Given the description of an element on the screen output the (x, y) to click on. 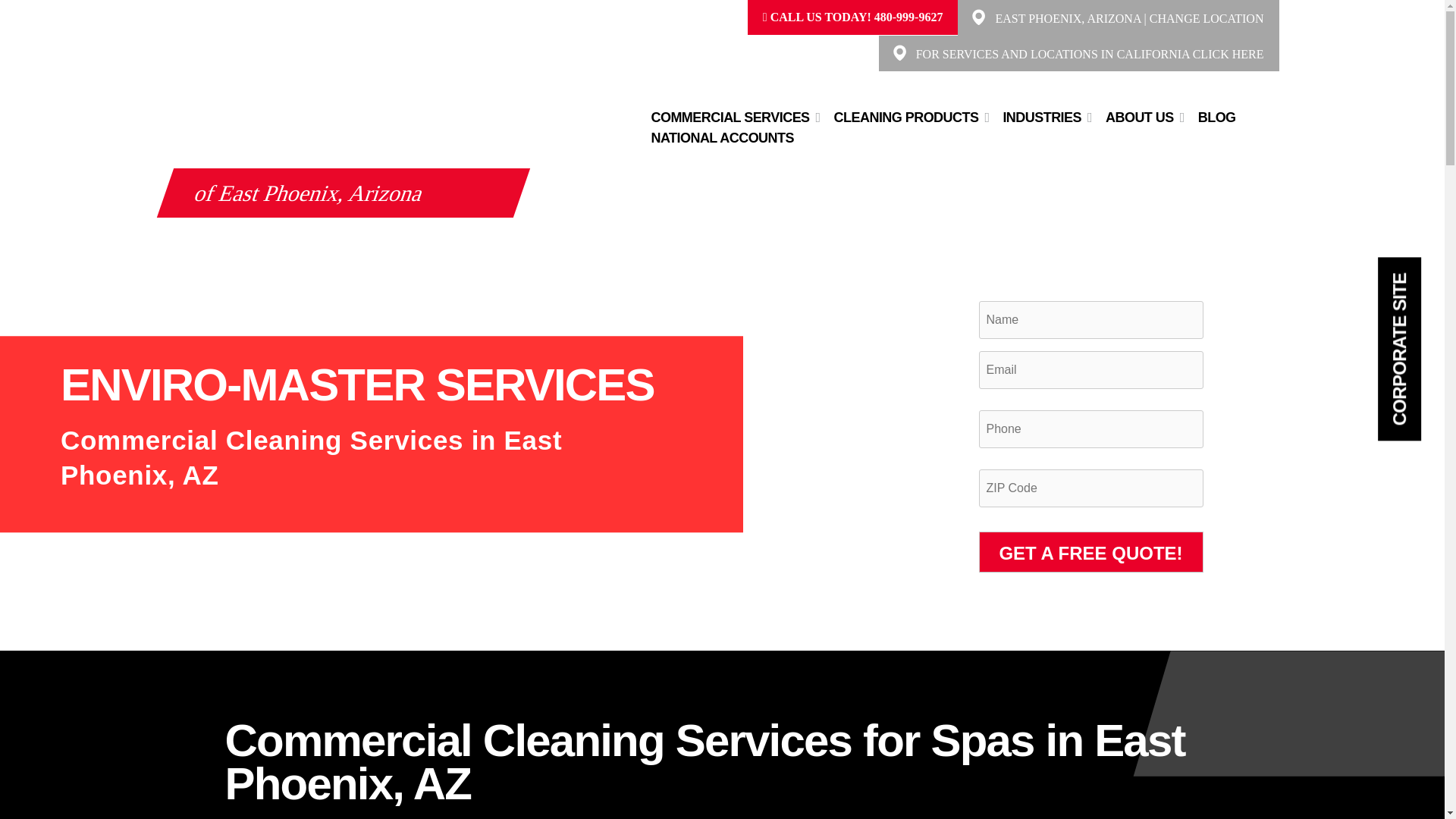
Commercial Services (730, 117)
COMMERCIAL SERVICES (730, 117)
Get a Free Quote! (1090, 551)
INDUSTRIES (1041, 117)
BLOG (1216, 117)
 CALL US TODAY! 480-999-9627 (852, 16)
ABOUT US (1139, 117)
FOR SERVICES AND LOCATIONS IN CALIFORNIA CLICK HERE (1089, 53)
CLEANING PRODUCTS (906, 117)
Cleaning Products (906, 117)
